Given the description of an element on the screen output the (x, y) to click on. 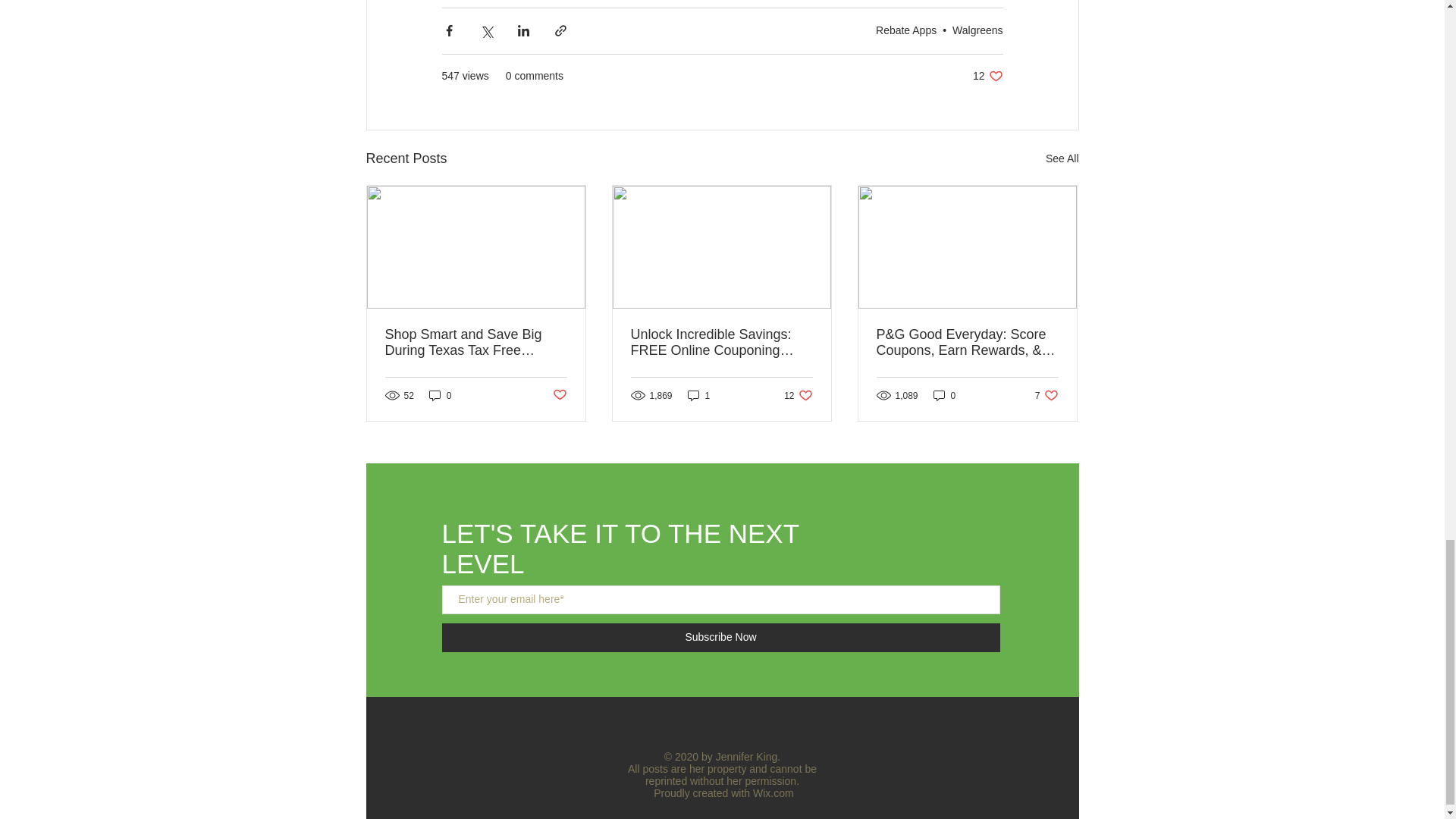
0 (440, 395)
Shop Smart and Save Big During Texas Tax Free Weekend 2023! (476, 342)
Walgreens (977, 30)
Post not marked as liked (558, 395)
See All (1061, 158)
Rebate Apps (987, 75)
